Given the description of an element on the screen output the (x, y) to click on. 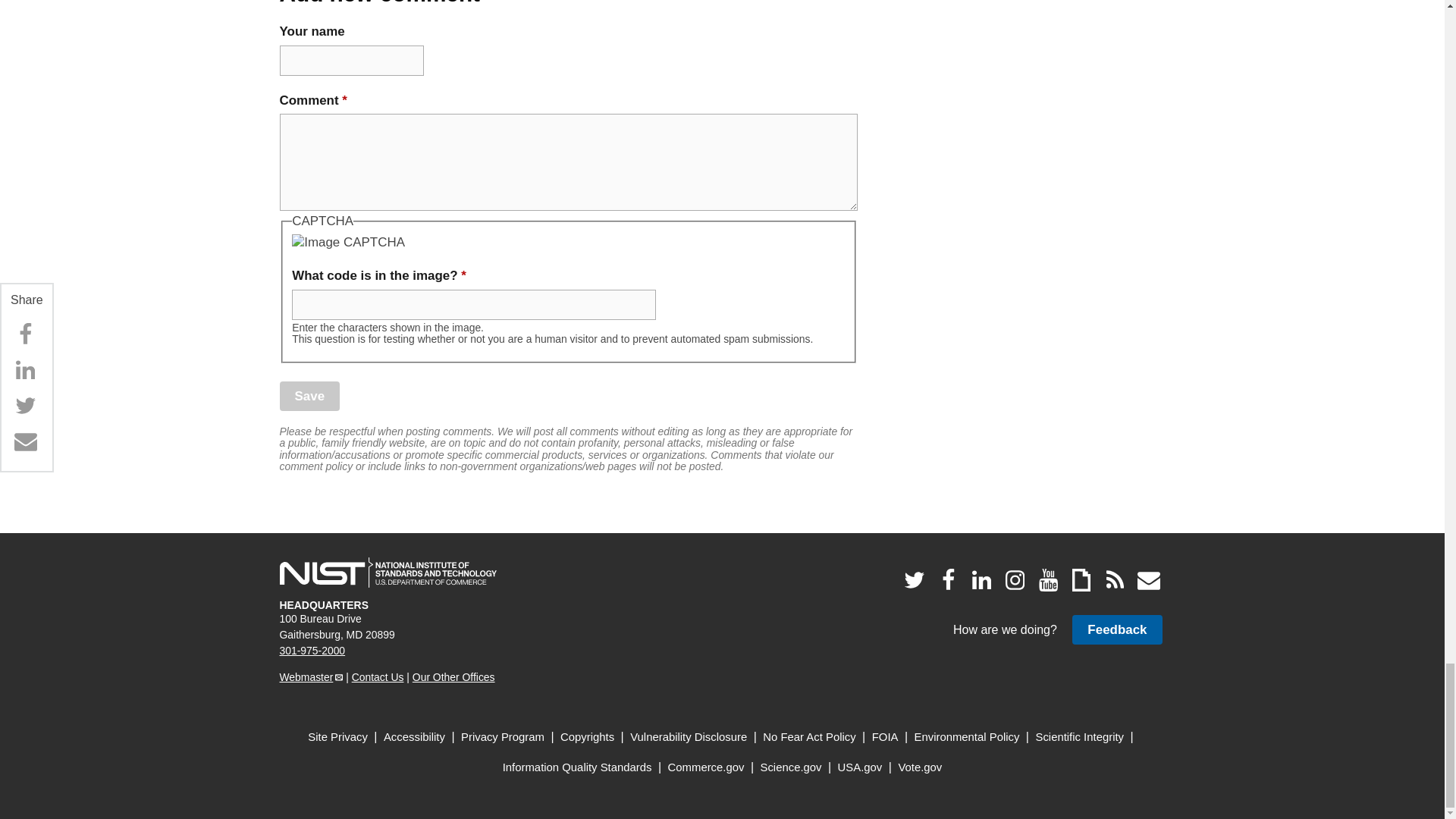
National Institute of Standards and Technology (387, 572)
Image CAPTCHA (348, 242)
Provide feedback (1116, 629)
Save (309, 396)
